Given the description of an element on the screen output the (x, y) to click on. 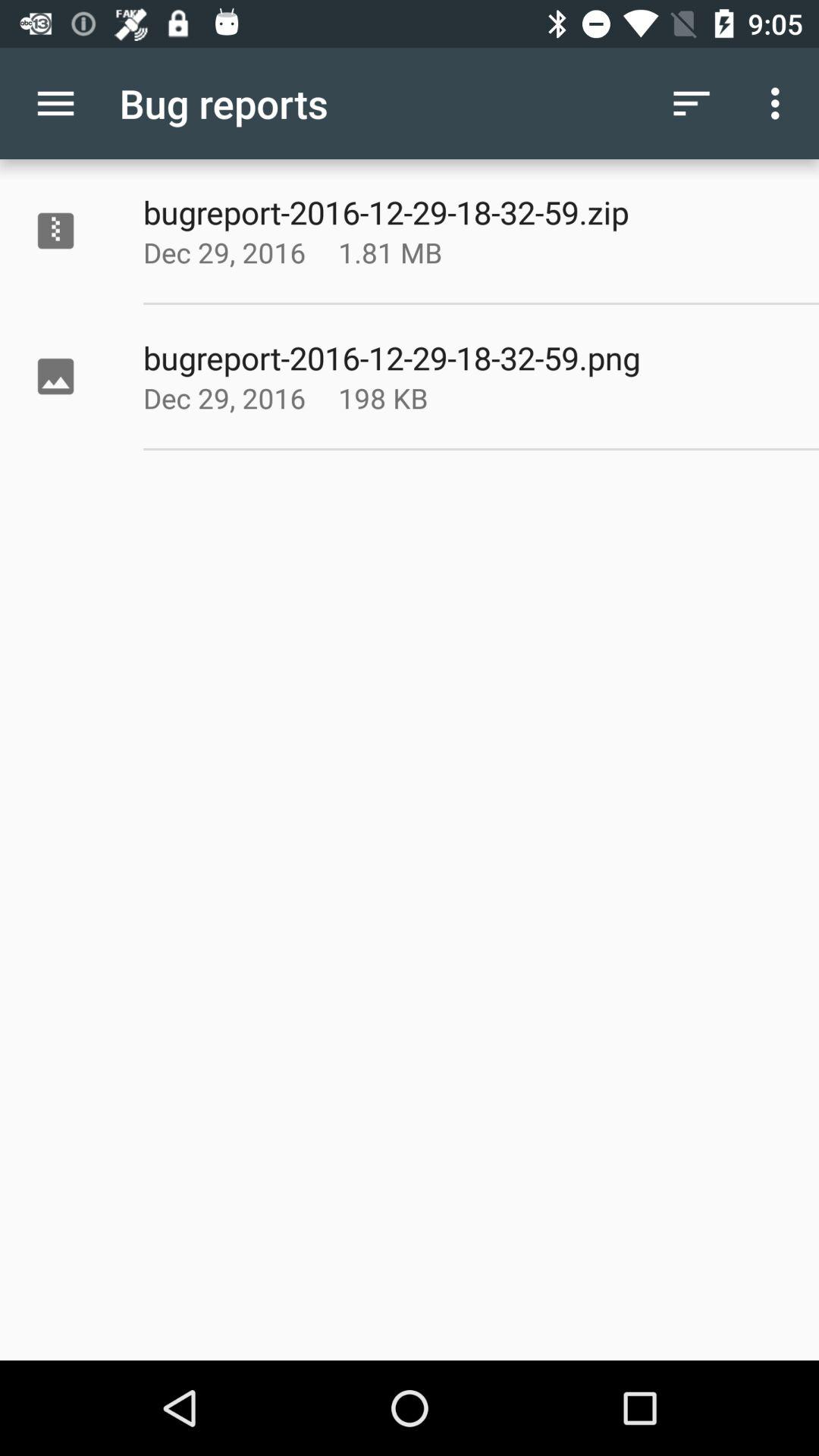
press icon next to dec 29, 2016 (427, 397)
